Given the description of an element on the screen output the (x, y) to click on. 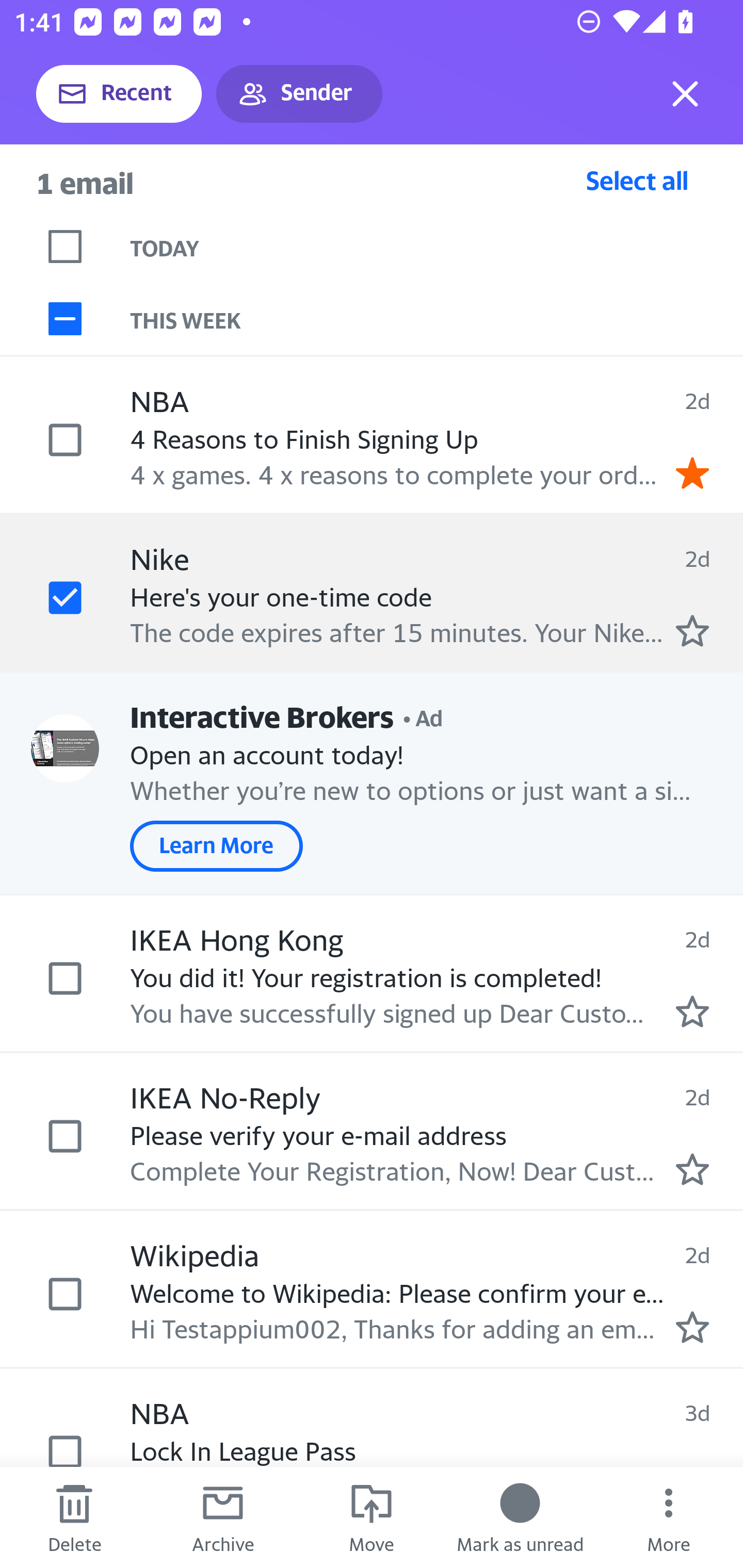
Sender (299, 93)
Exit selection mode (684, 93)
Select all (637, 180)
THIS WEEK (436, 318)
Remove star. (692, 472)
Mark as starred. (692, 631)
Mark as starred. (692, 1012)
Mark as starred. (692, 1168)
Mark as starred. (692, 1327)
Delete (74, 1517)
Archive (222, 1517)
Move (371, 1517)
Mark as unread (519, 1517)
More (668, 1517)
